Given the description of an element on the screen output the (x, y) to click on. 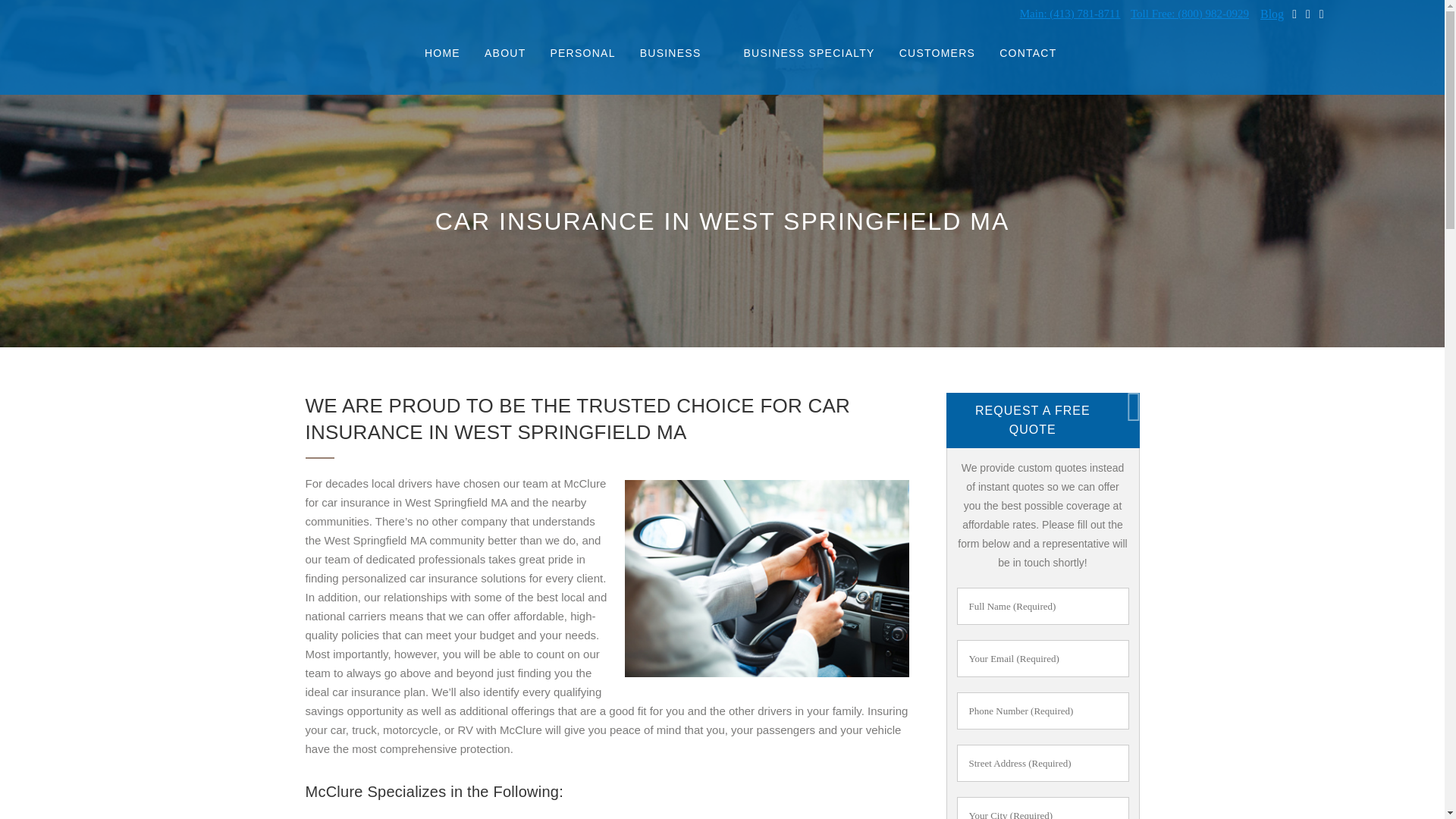
Blog (1272, 13)
PERSONAL (582, 53)
CONTACT (1027, 53)
CUSTOMERS (936, 53)
BUSINESS SPECIALTY (808, 53)
BUSINESS (670, 53)
